Given the description of an element on the screen output the (x, y) to click on. 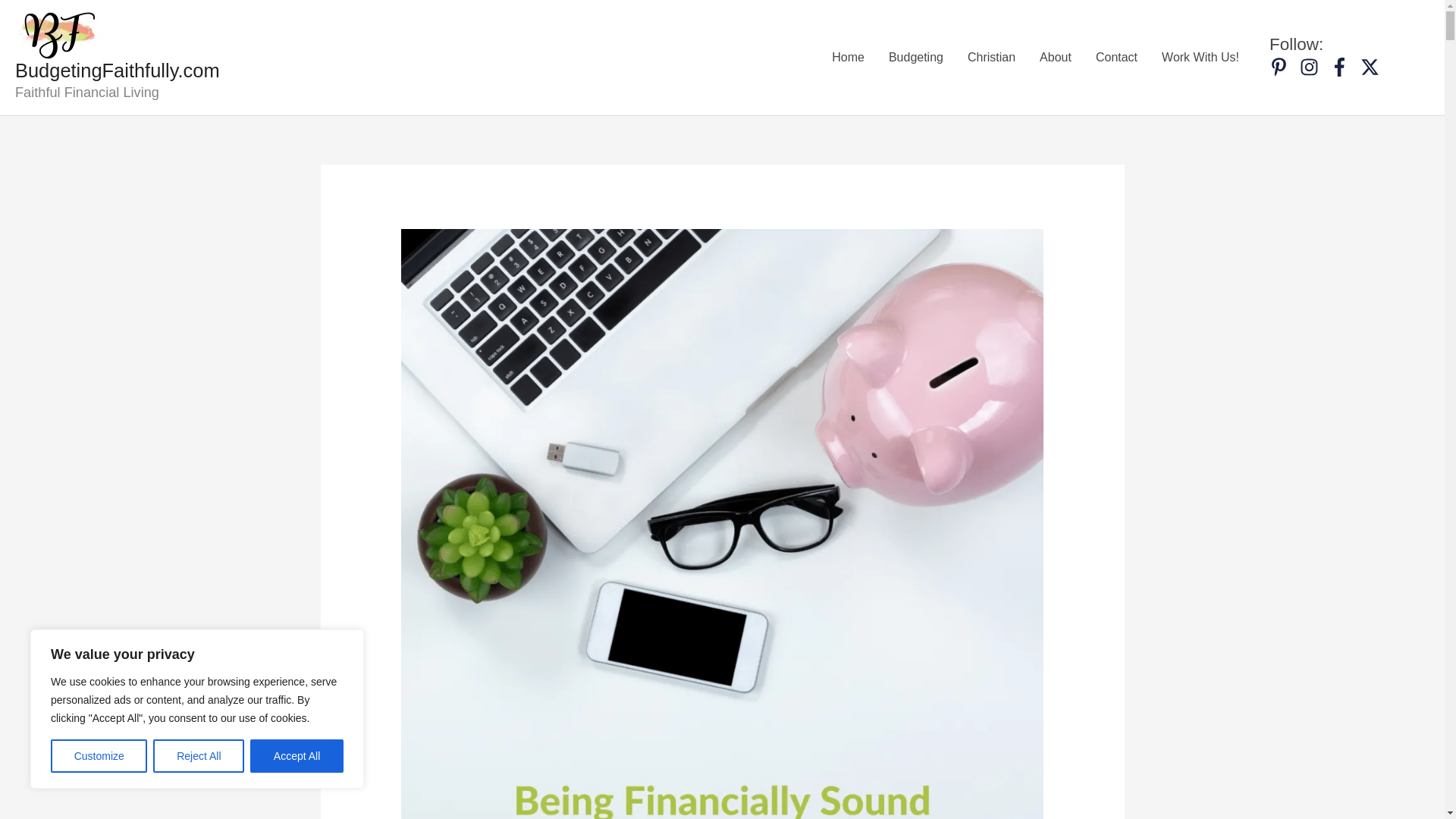
Budgeting (915, 56)
Contact (1116, 56)
Customize (98, 756)
Christian (991, 56)
About (1055, 56)
Work With Us! (1200, 56)
Reject All (198, 756)
BudgetingFaithfully.com (116, 70)
Home (847, 56)
Accept All (296, 756)
